Given the description of an element on the screen output the (x, y) to click on. 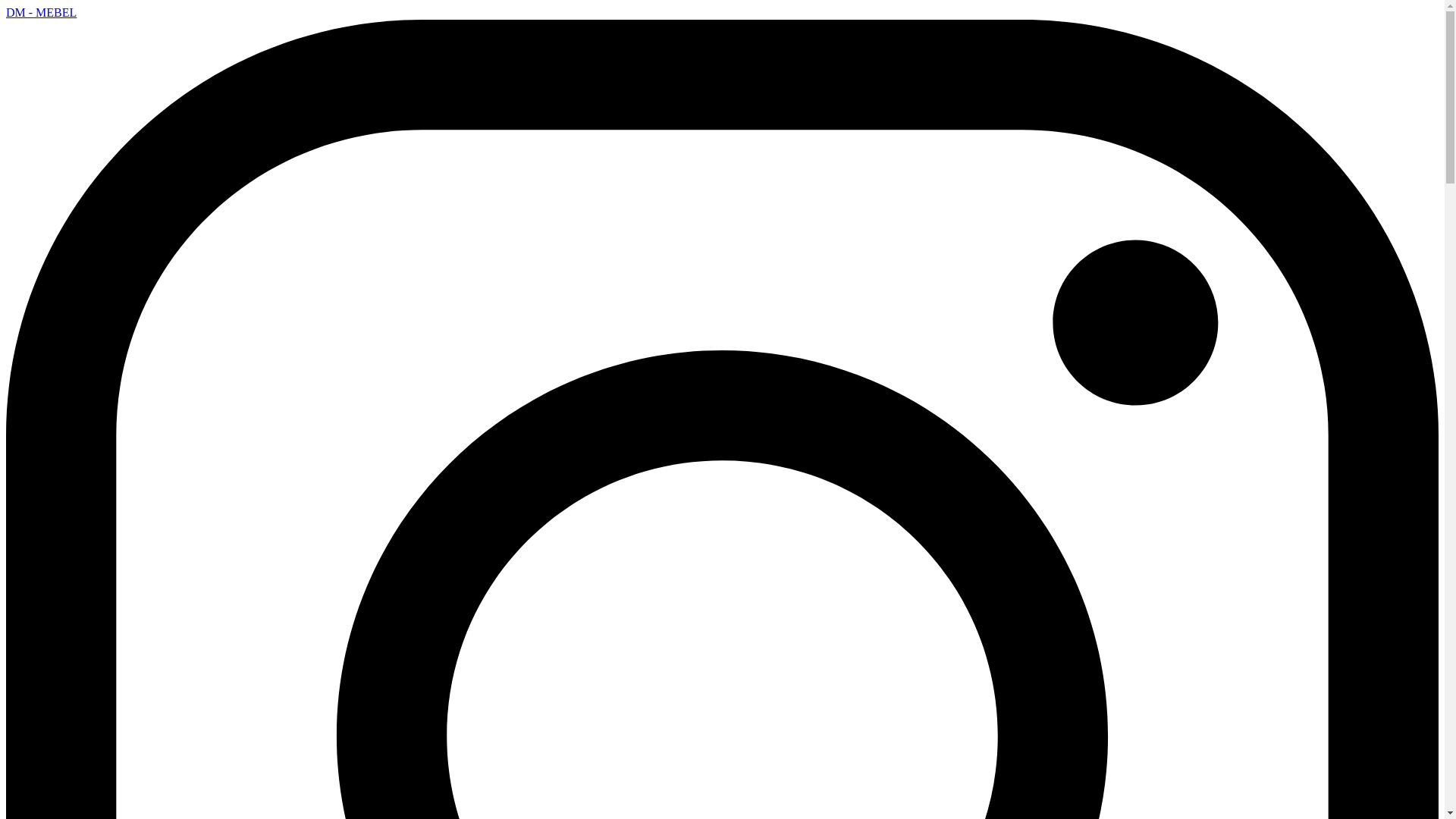
DM - MEBEL Element type: text (41, 12)
